Given the description of an element on the screen output the (x, y) to click on. 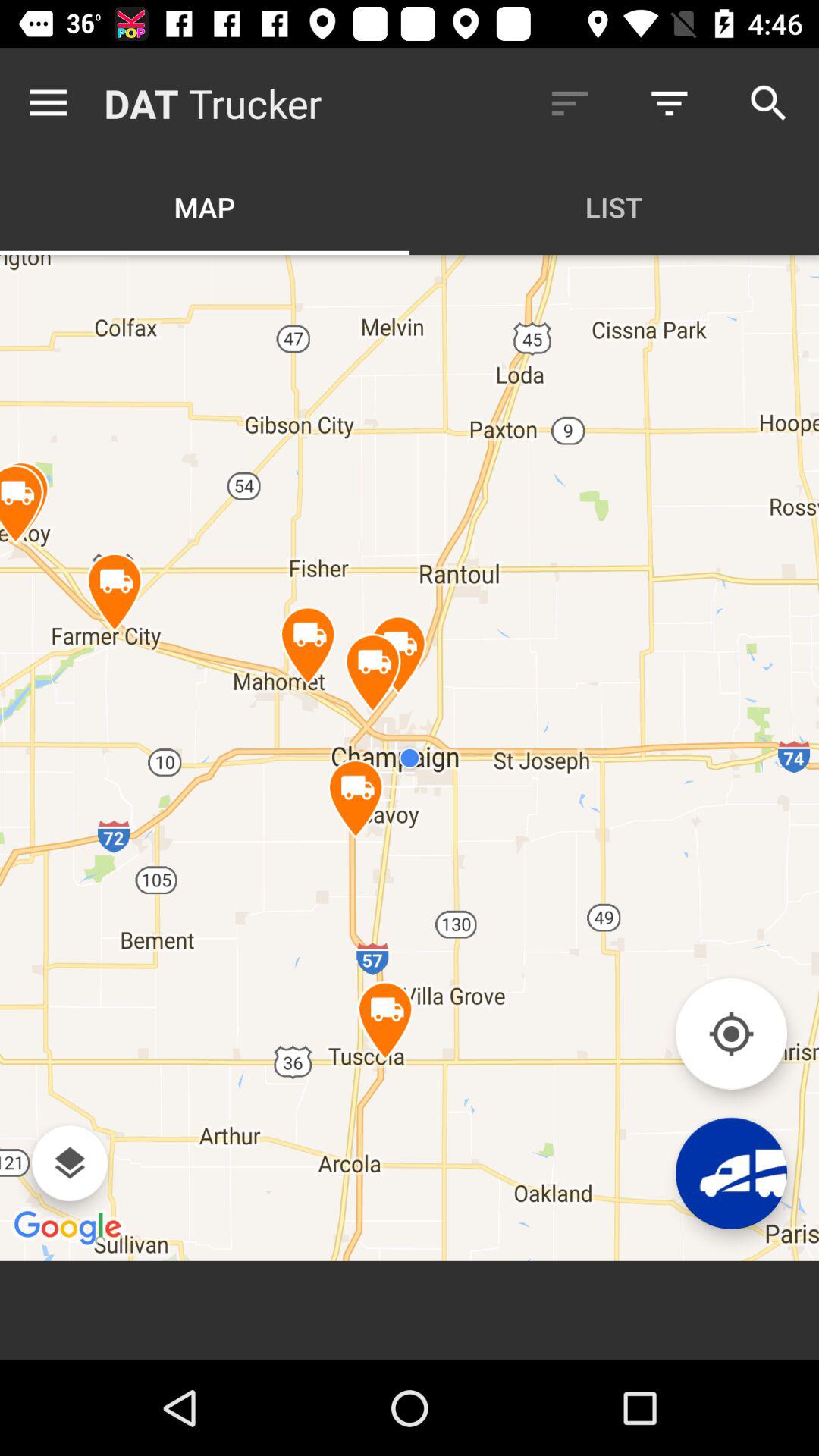
tap the item to the left of dat icon (52, 103)
